Given the description of an element on the screen output the (x, y) to click on. 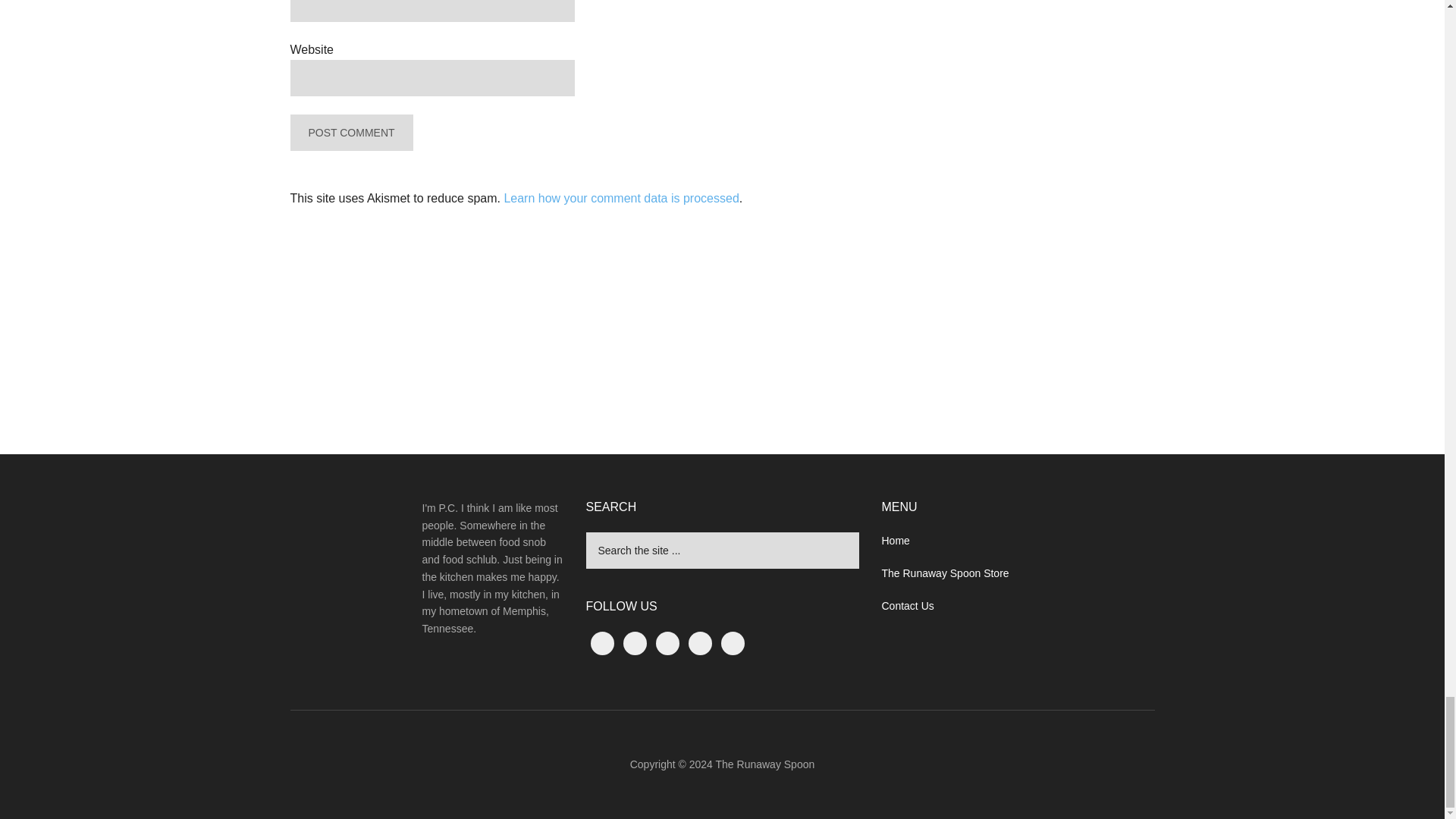
Post Comment (350, 132)
